Given the description of an element on the screen output the (x, y) to click on. 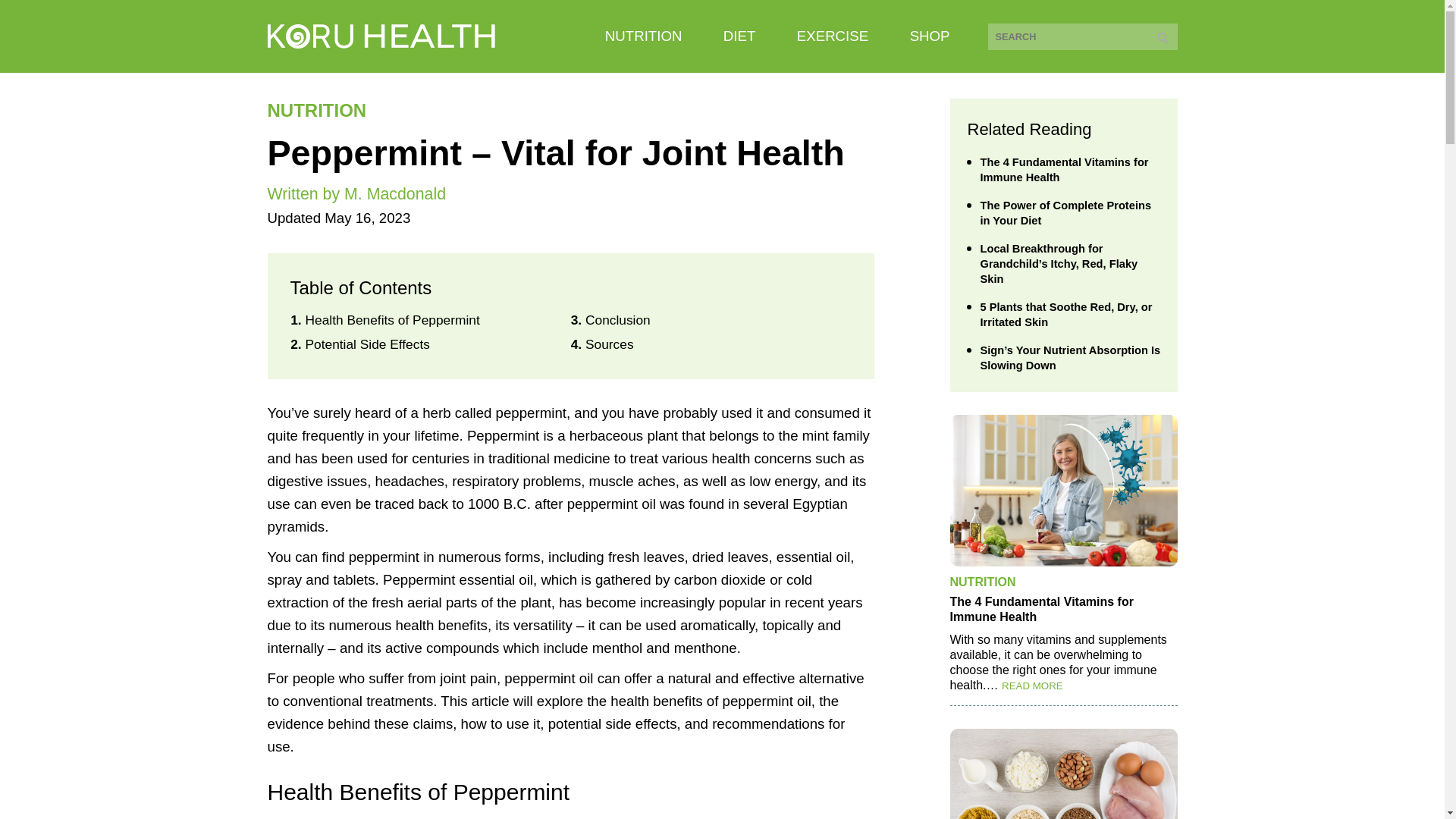
Conclusion (617, 319)
5 Plants that Soothe Red, Dry, or Irritated Skin (1070, 314)
The 4 Fundamental Vitamins for Immune Health (1062, 609)
NUTRITION (981, 581)
Potential Side Effects (366, 344)
Sources (609, 344)
NUTRITION (316, 109)
Sources (609, 344)
Health Benefits of Peppermint (391, 319)
Potential Side Effects (366, 344)
EXERCISE (831, 35)
The Power of Complete Proteins in Your Diet  (1070, 213)
The 4 Fundamental Vitamins for Immune Health (1070, 169)
DIET (739, 35)
Conclusion (617, 319)
